Given the description of an element on the screen output the (x, y) to click on. 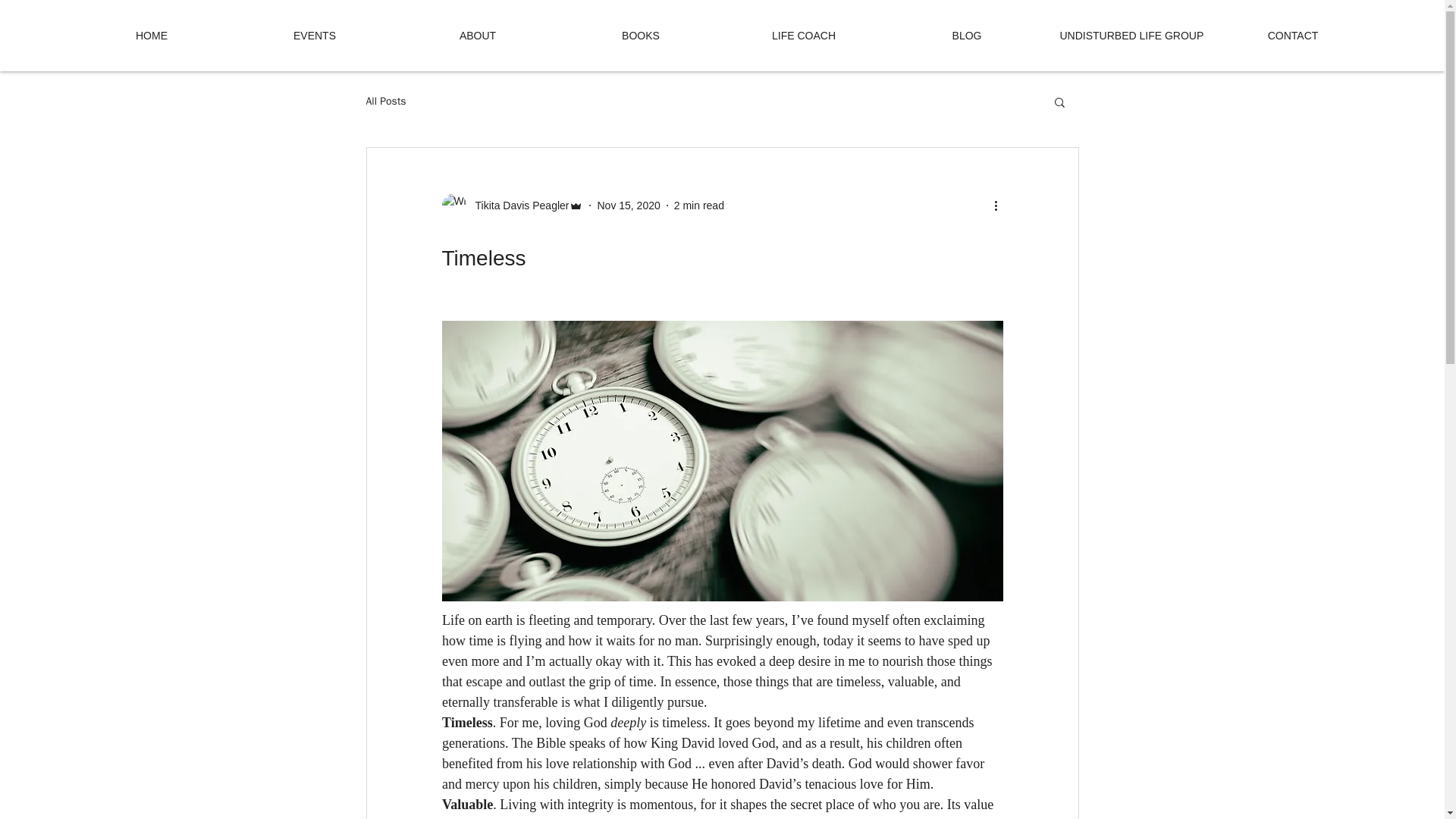
CONTACT (1292, 35)
ABOUT (477, 35)
LIFE COACH (803, 35)
EVENTS (314, 35)
BOOKS (640, 35)
Tikita Davis Peagler (512, 205)
Nov 15, 2020 (627, 204)
BLOG (966, 35)
HOME (150, 35)
All Posts (385, 101)
2 min read (698, 204)
UNDISTURBED LIFE GROUP (1129, 35)
Tikita Davis Peagler (517, 204)
